Given the description of an element on the screen output the (x, y) to click on. 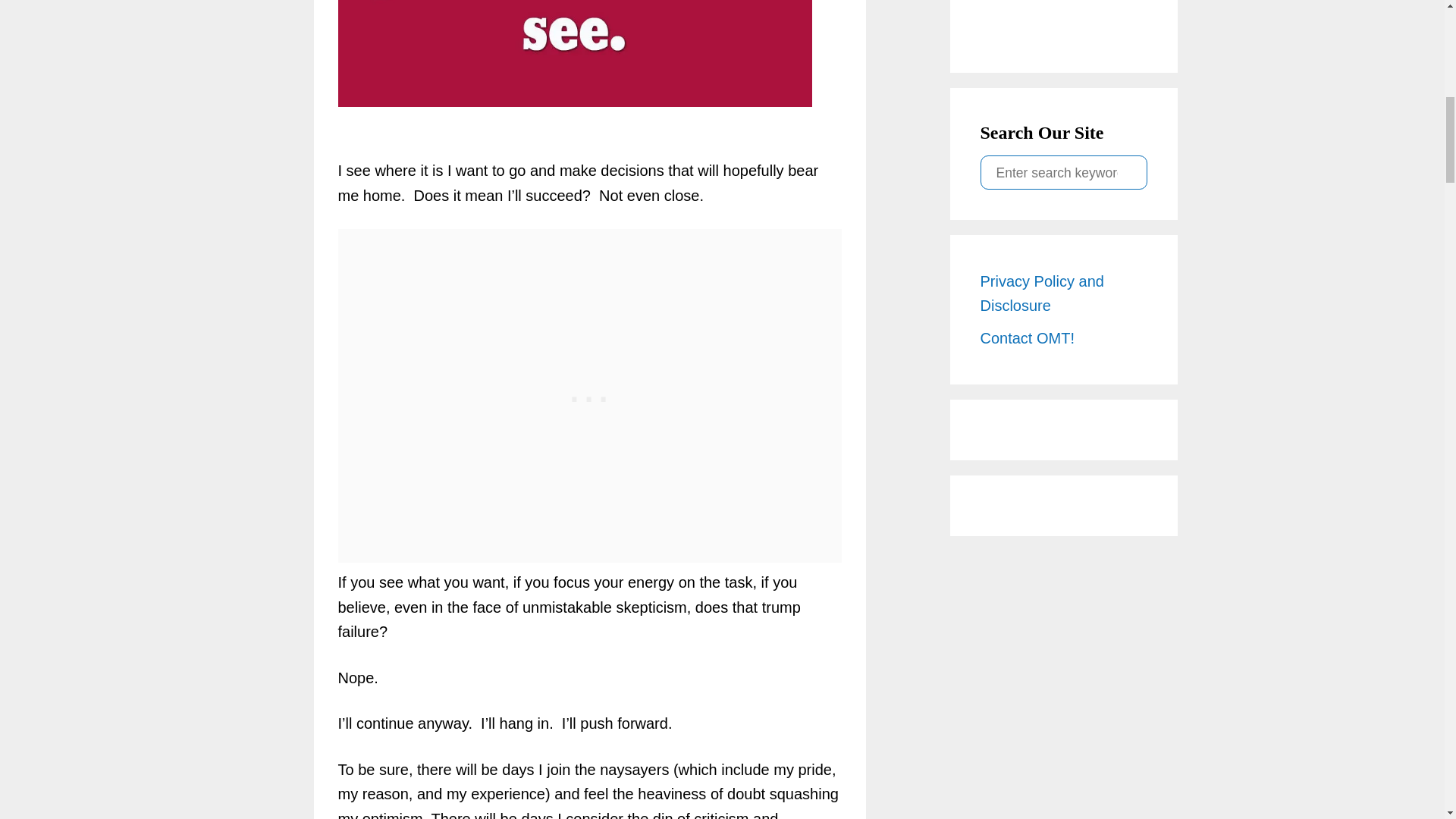
Privacy Policy and Disclosure (1063, 293)
Search for: (1063, 171)
